Given the description of an element on the screen output the (x, y) to click on. 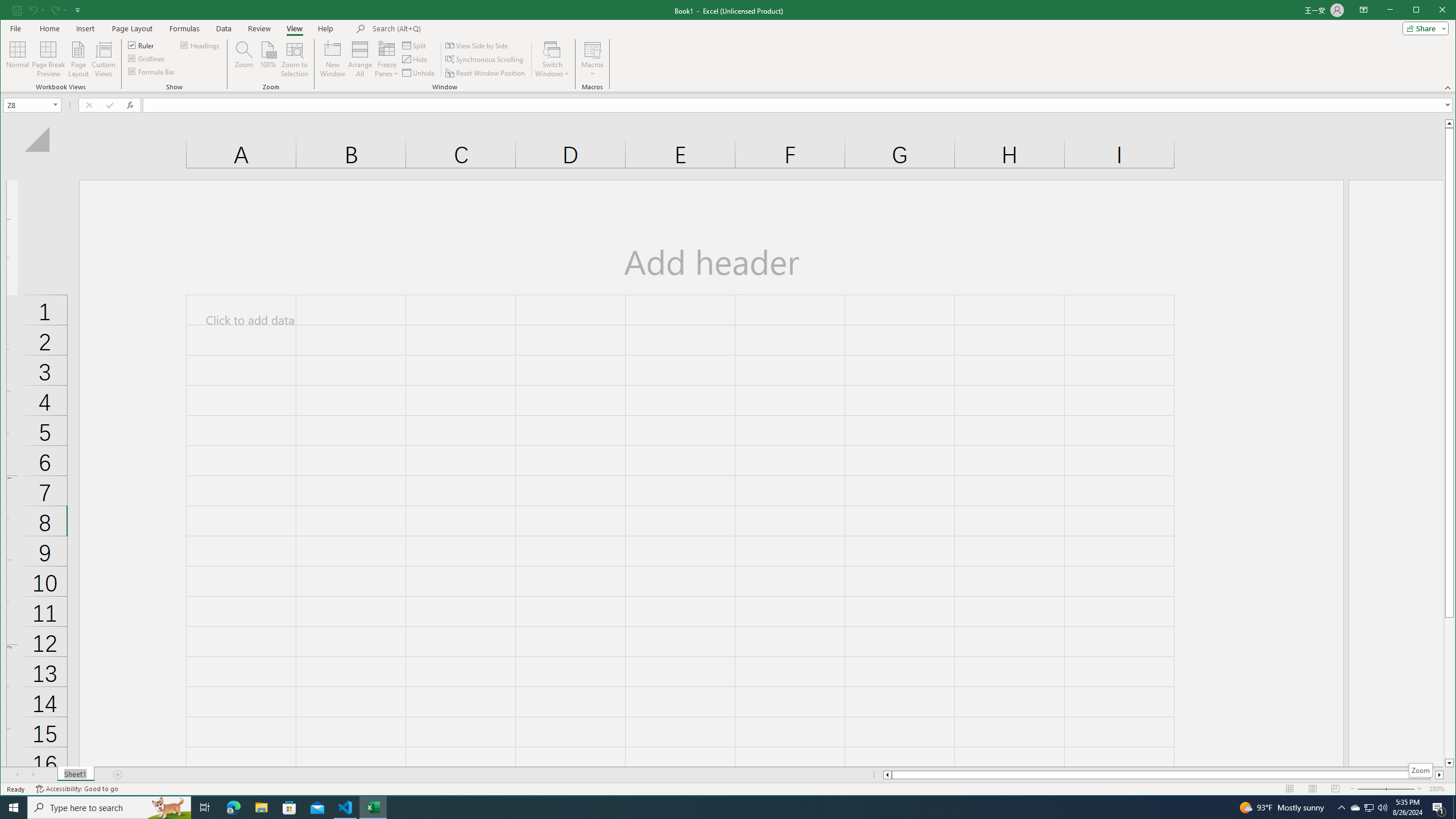
Hide (415, 59)
Synchronous Scrolling (485, 59)
Customize Quick Access Toolbar (77, 9)
Data (223, 28)
Ribbon Display Options (1364, 9)
Column right (1368, 807)
Custom Views... (1439, 774)
Start (103, 59)
Share (13, 807)
View Side by Side (1422, 27)
Freeze Panes (478, 45)
Save (387, 59)
